Given the description of an element on the screen output the (x, y) to click on. 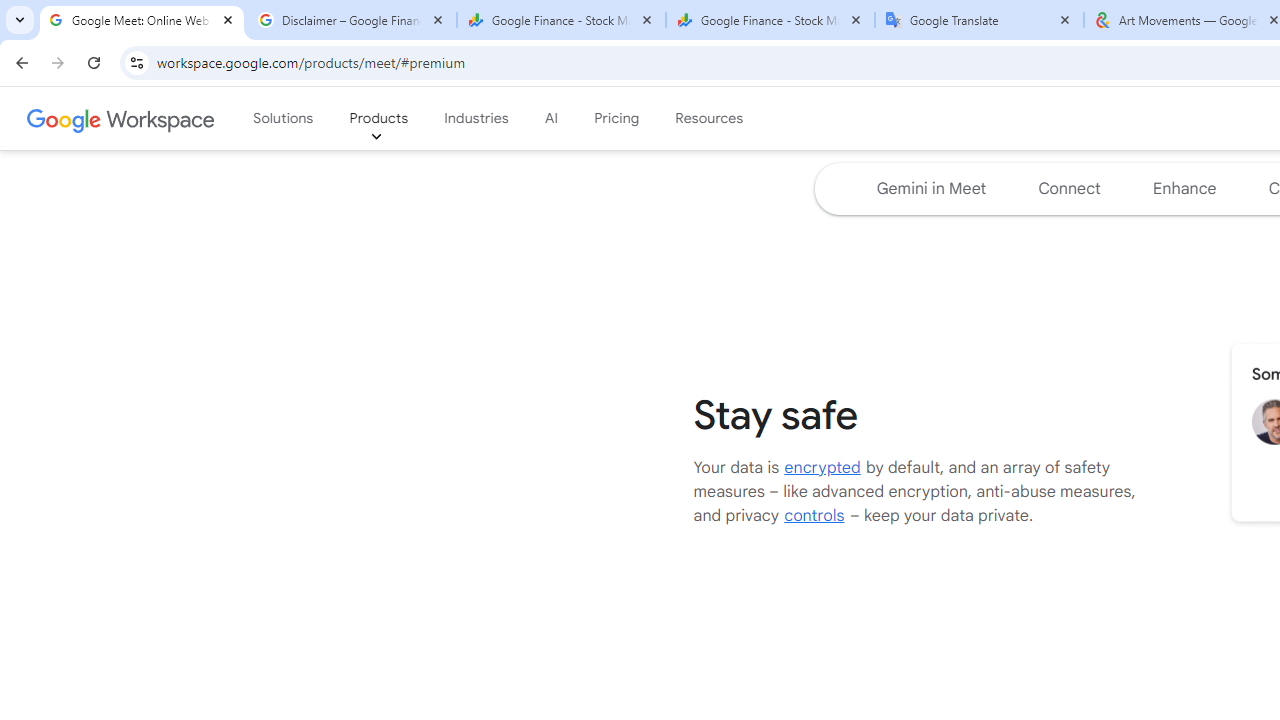
AI (551, 119)
encrypted (822, 466)
Jump to the enhance section of the page (1184, 188)
controls (813, 515)
Solutions (283, 119)
